Given the description of an element on the screen output the (x, y) to click on. 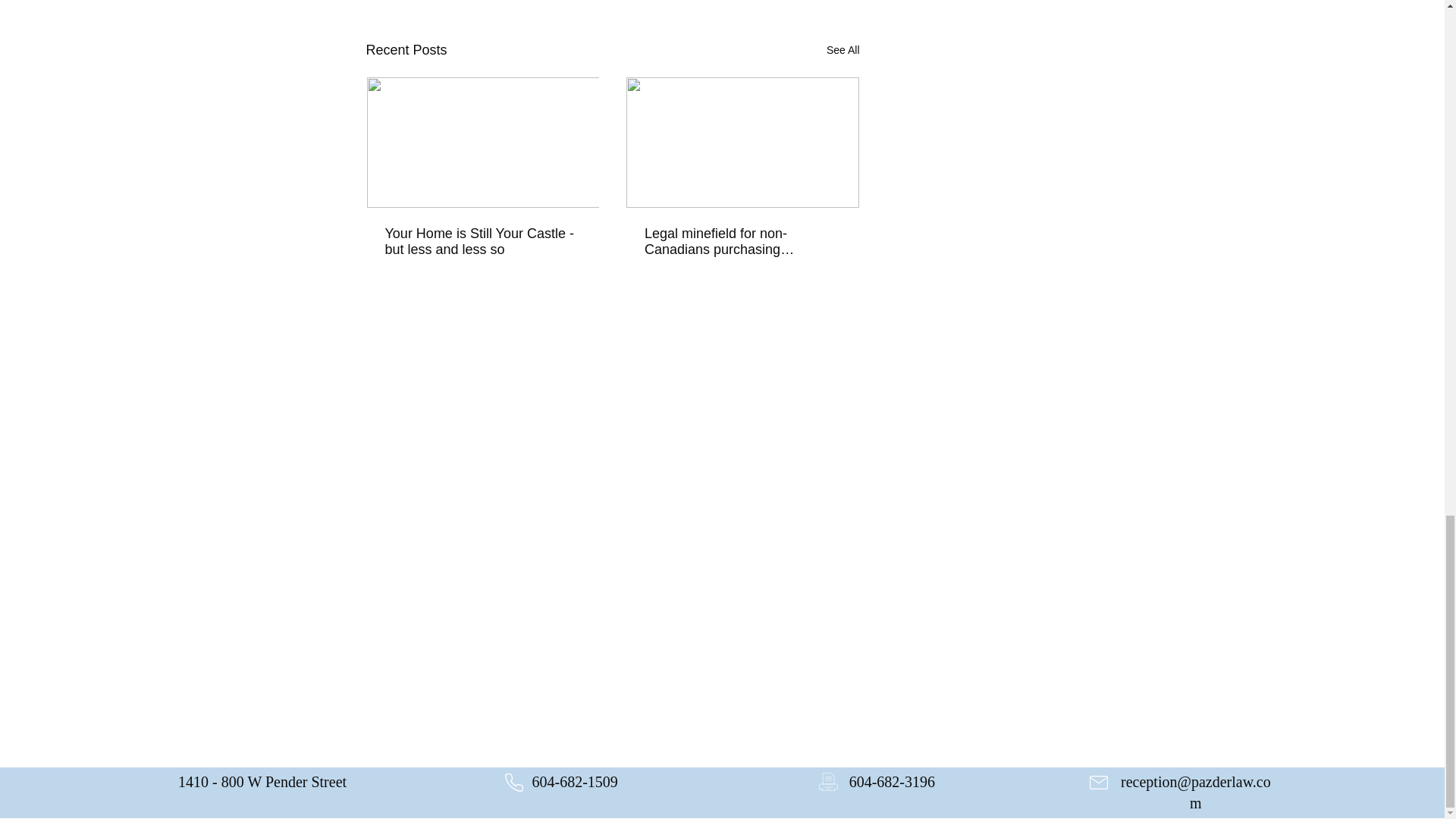
See All (843, 50)
Your Home is Still Your Castle - but less and less so (482, 241)
